Given the description of an element on the screen output the (x, y) to click on. 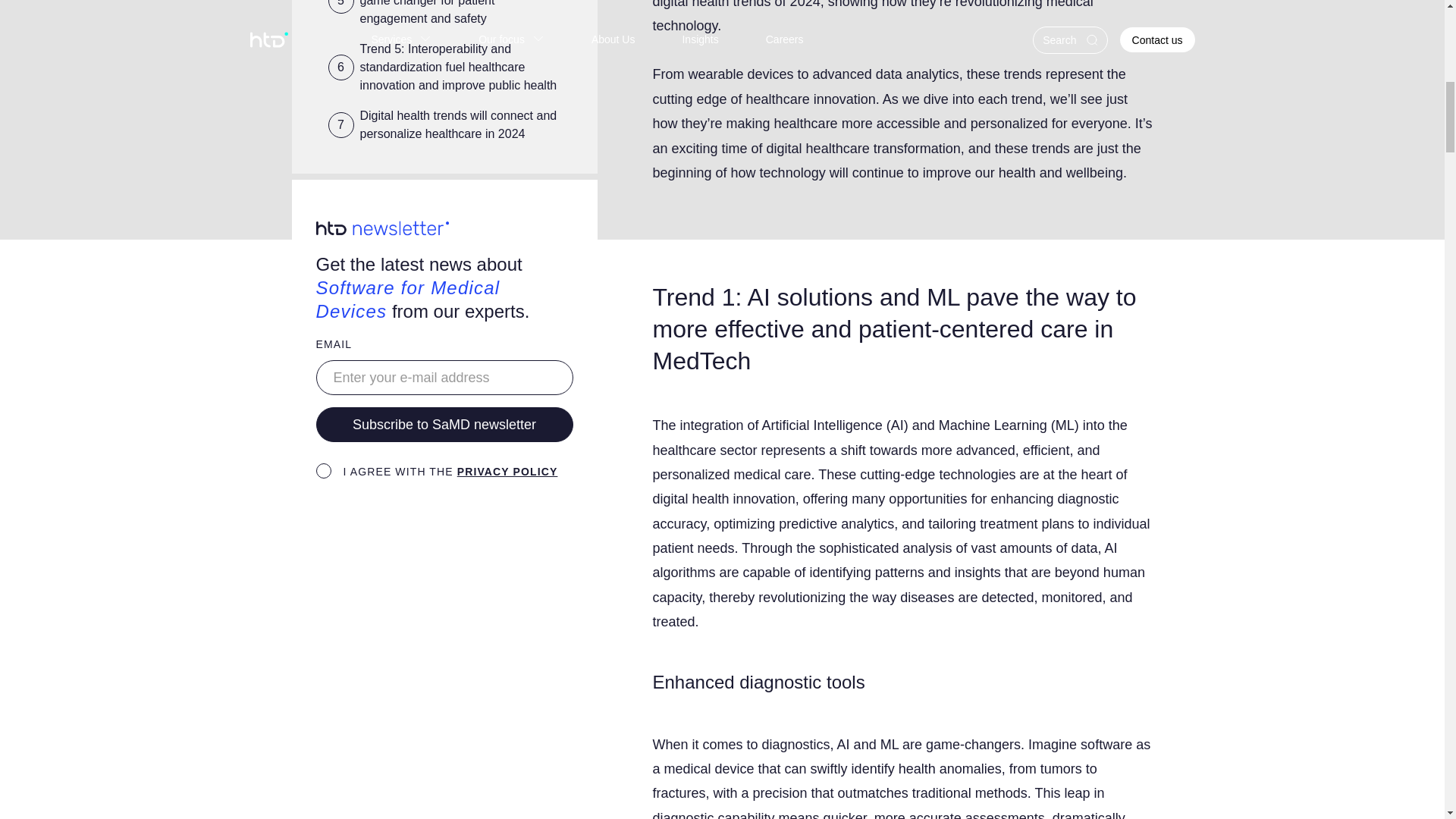
on (322, 470)
